Given the description of an element on the screen output the (x, y) to click on. 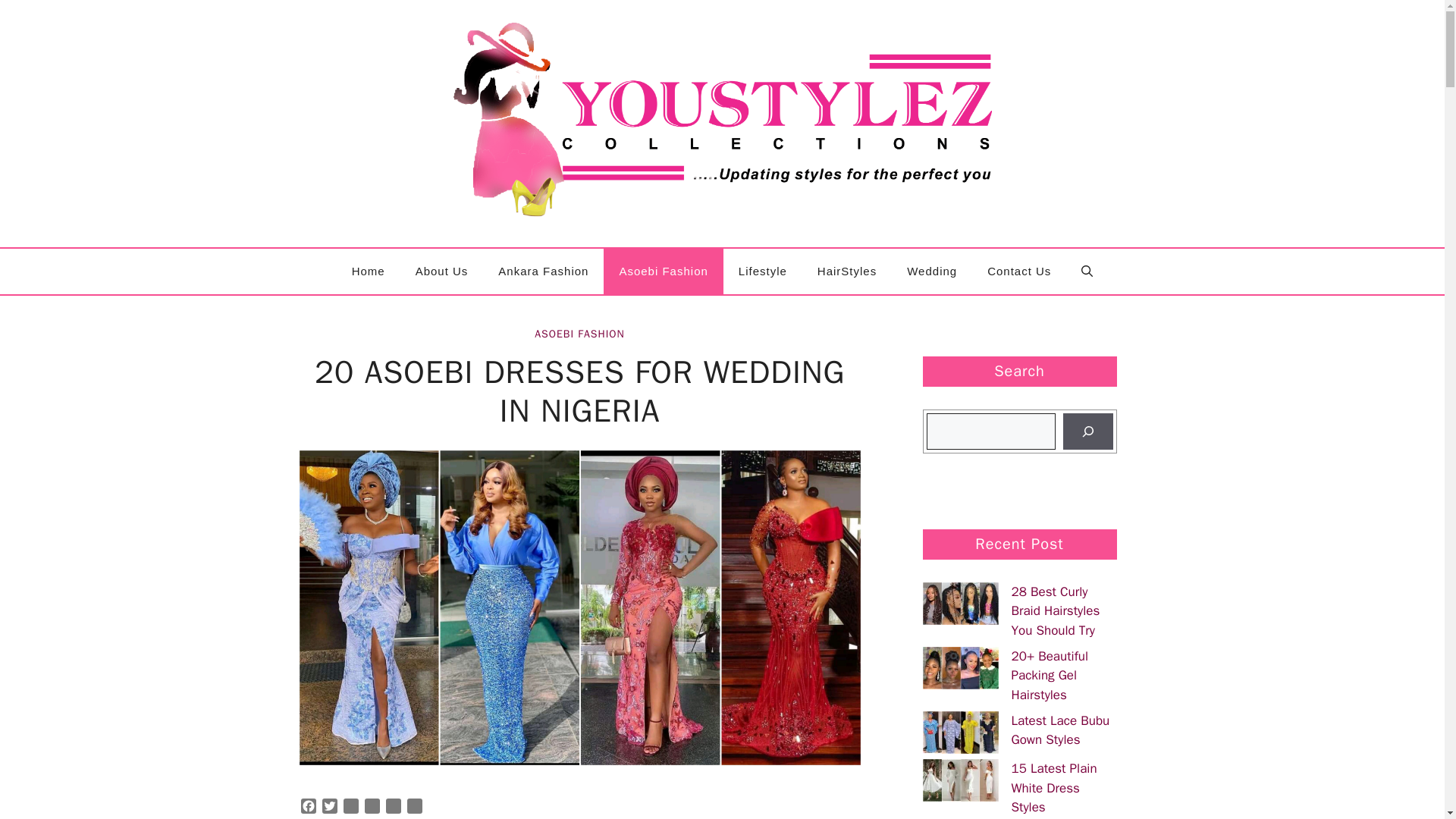
Asoebi Fashion (663, 271)
28 Best Curly Braid Hairstyles You Should Try (1055, 610)
Pinterest (371, 807)
15 Latest Plain White Dress Styles (1054, 787)
Facebook (307, 807)
LinkedIn (392, 807)
WhatsApp (350, 807)
Wedding (931, 271)
Ankara Fashion (543, 271)
Email (414, 807)
Twitter (328, 807)
LinkedIn (392, 807)
Lifestyle (762, 271)
WhatsApp (350, 807)
Pinterest (371, 807)
